Given the description of an element on the screen output the (x, y) to click on. 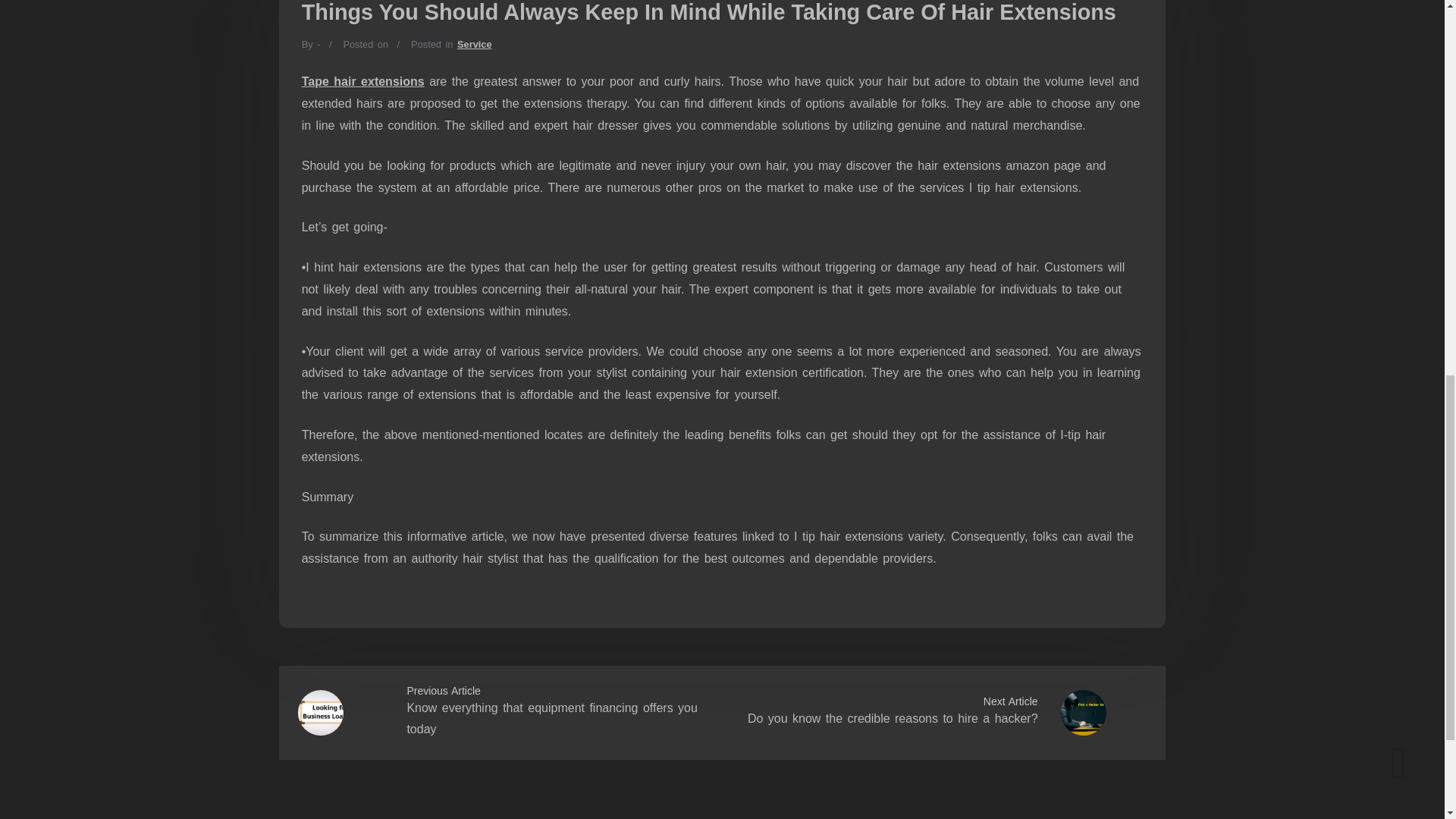
Service (474, 43)
Do you know the credible reasons to hire a hacker? (893, 717)
Tape hair extensions (363, 81)
Know everything that equipment financing offers you today (551, 718)
